Given the description of an element on the screen output the (x, y) to click on. 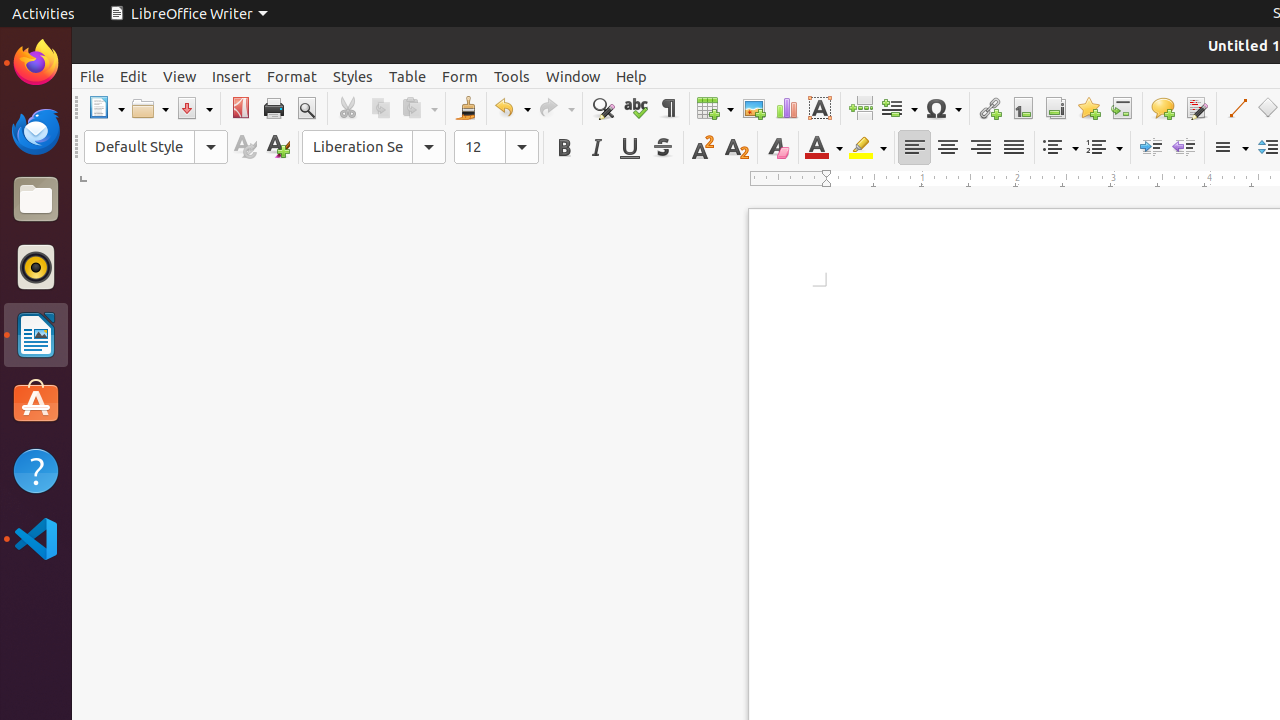
Line Element type: toggle-button (1236, 108)
Files Element type: push-button (36, 199)
Font Size Element type: combo-box (496, 147)
Clone Element type: push-button (465, 108)
Field Element type: push-button (899, 108)
